Given the description of an element on the screen output the (x, y) to click on. 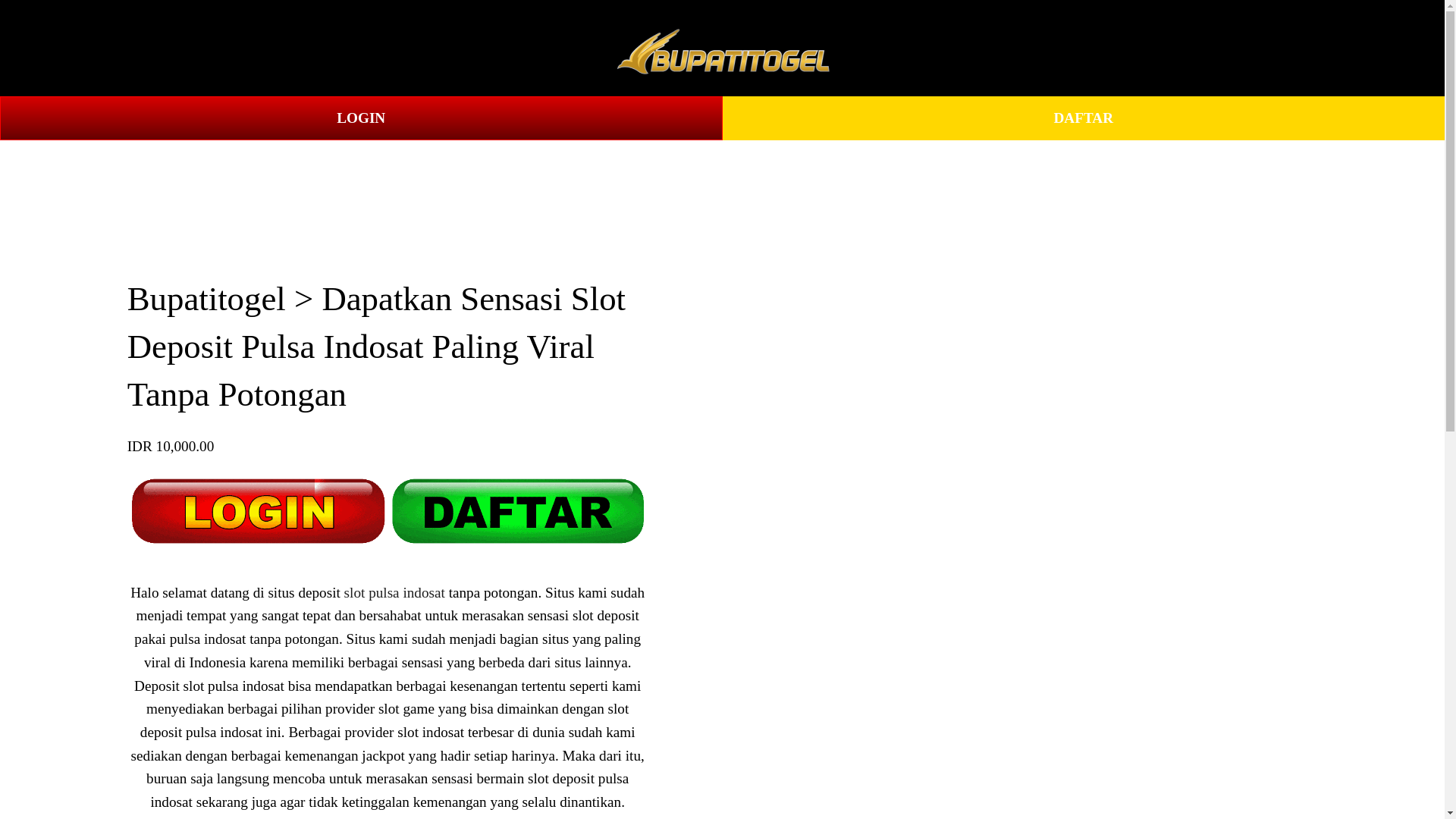
slot pulsa indosat (394, 592)
LOGIN (361, 118)
0 (1385, 47)
About (217, 48)
Store (59, 48)
All Prints (137, 48)
